Given the description of an element on the screen output the (x, y) to click on. 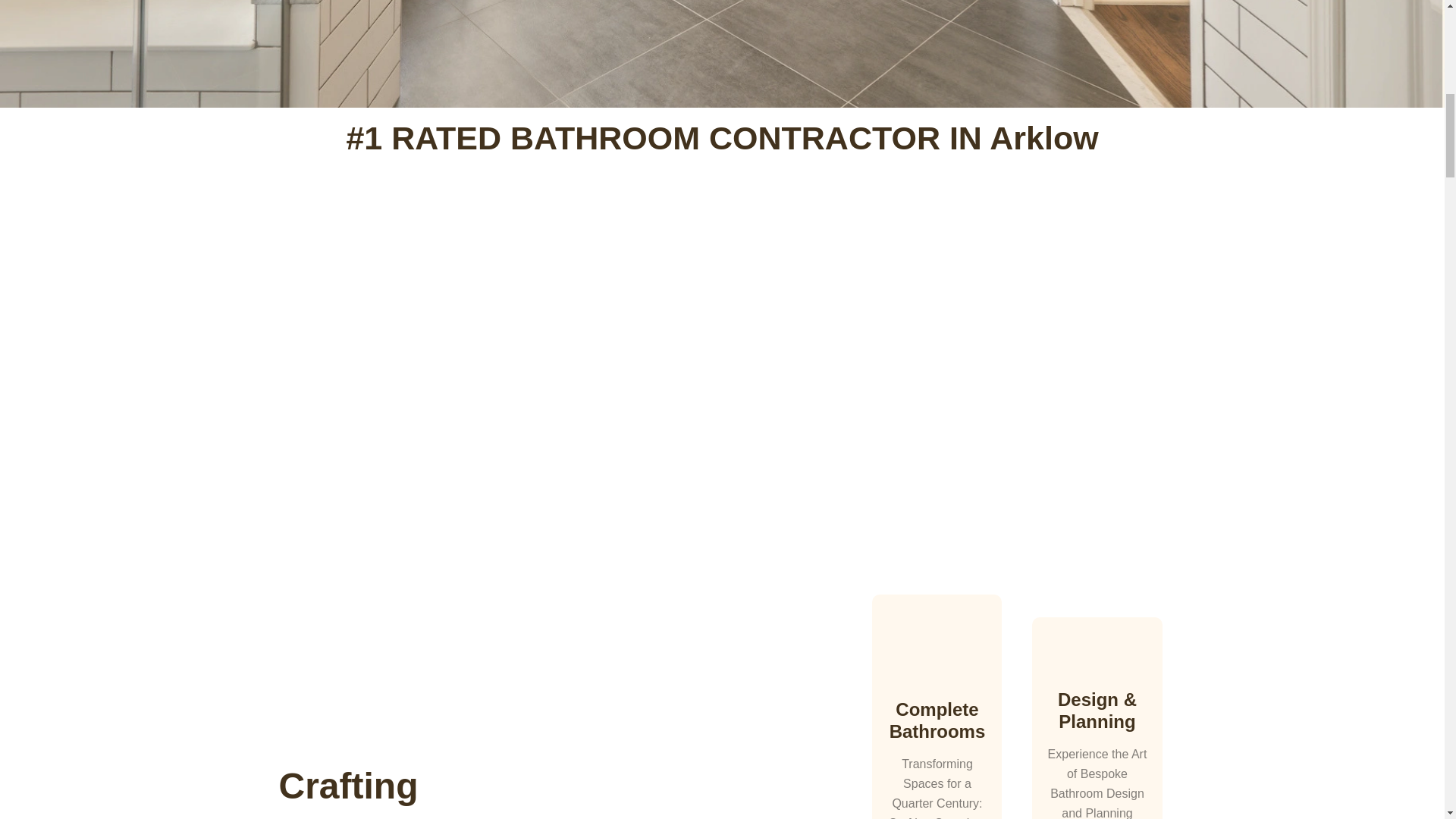
Bathroom Renovations 2 (503, 210)
Bathroom Renovations 4 (936, 650)
Bathroom Renovations 3 (940, 210)
Bathroom Renovations 6 (1097, 658)
